Given the description of an element on the screen output the (x, y) to click on. 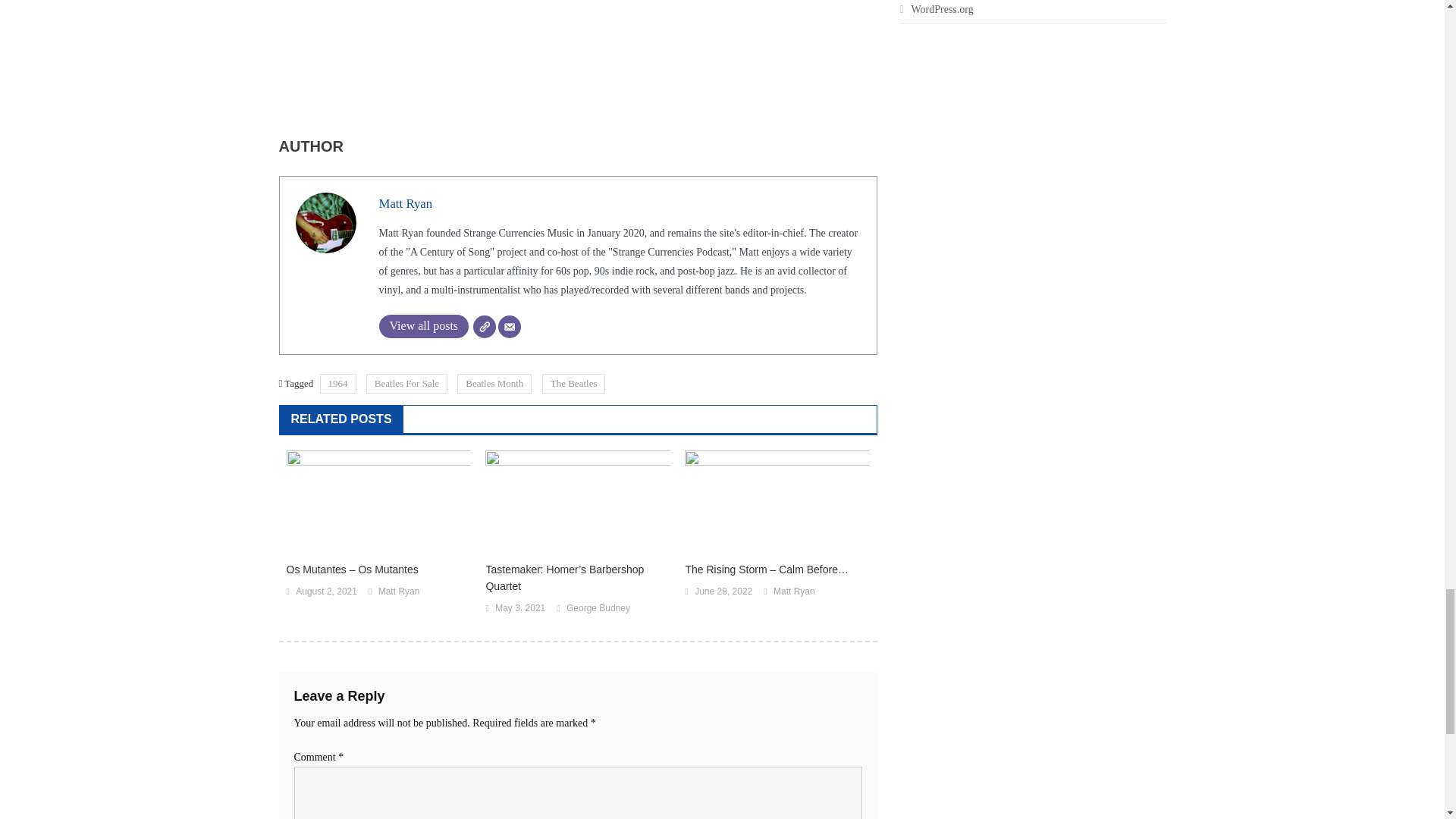
View all posts (423, 326)
Matt Ryan (405, 203)
